Given the description of an element on the screen output the (x, y) to click on. 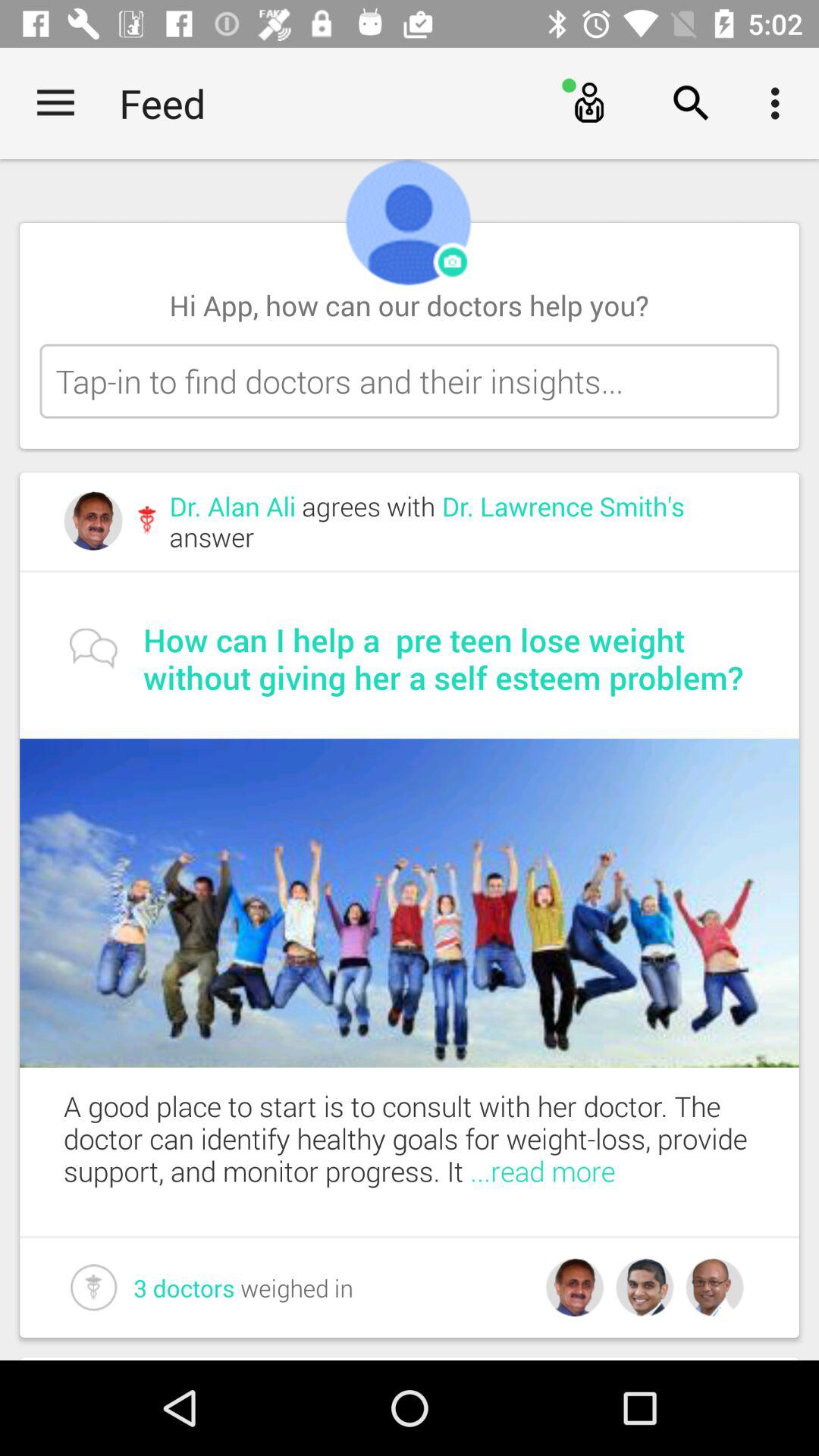
press item above the how can i item (462, 521)
